Given the description of an element on the screen output the (x, y) to click on. 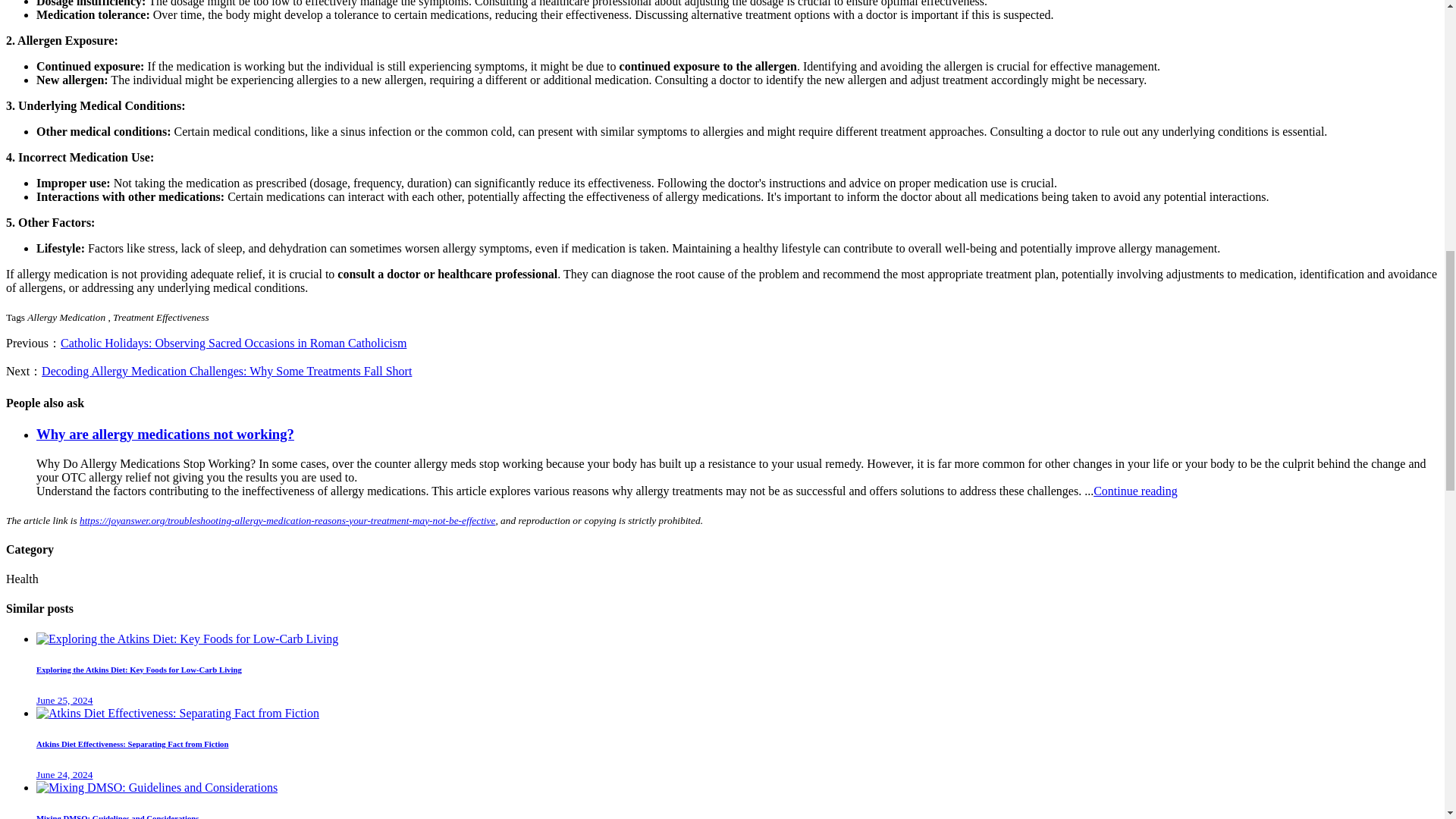
Why are allergy medications not working? (165, 433)
Continue reading (1135, 490)
